Given the description of an element on the screen output the (x, y) to click on. 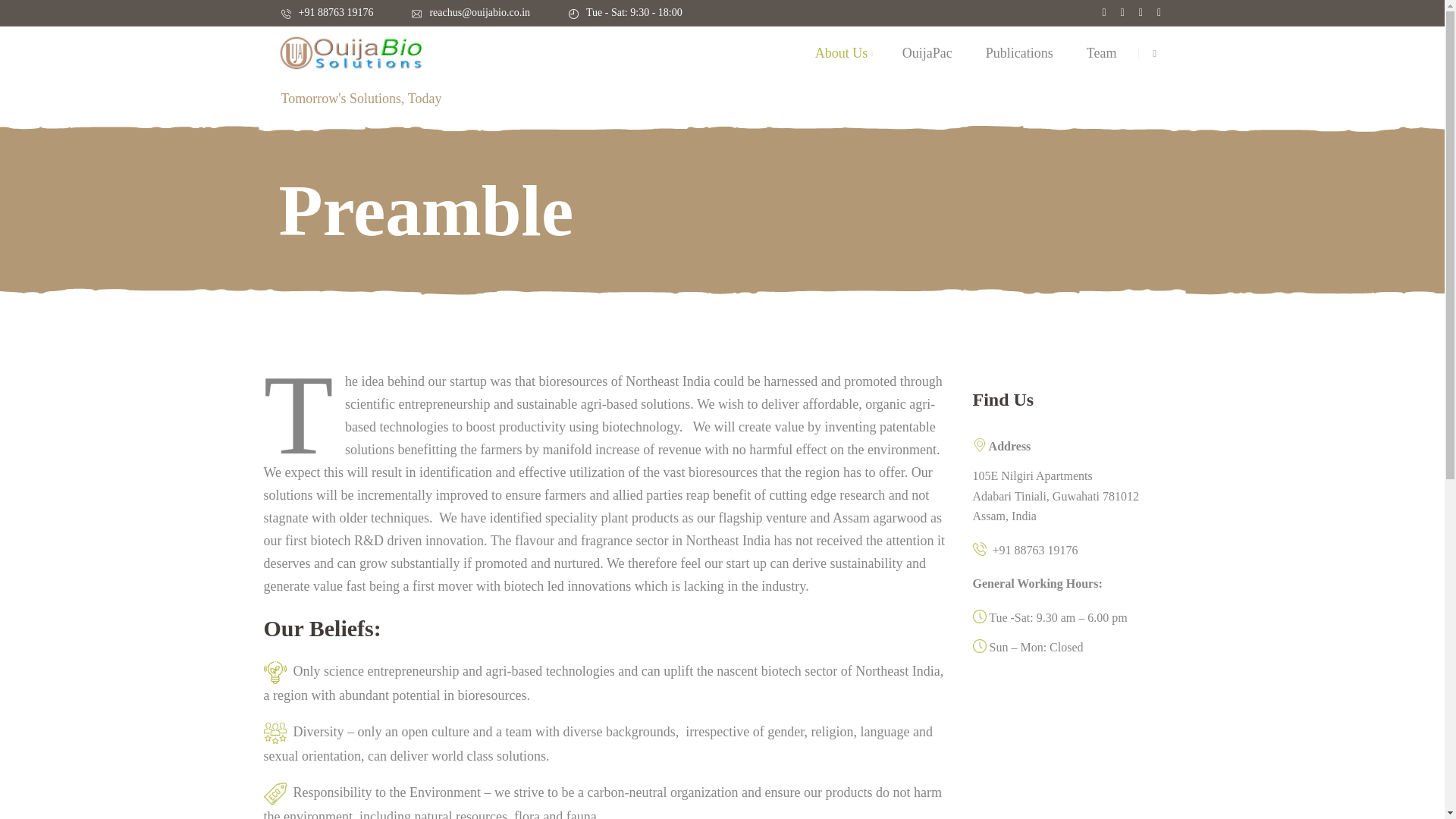
About Us (843, 52)
Search (1156, 98)
Publications (1018, 52)
OuijaPac (927, 52)
